Given the description of an element on the screen output the (x, y) to click on. 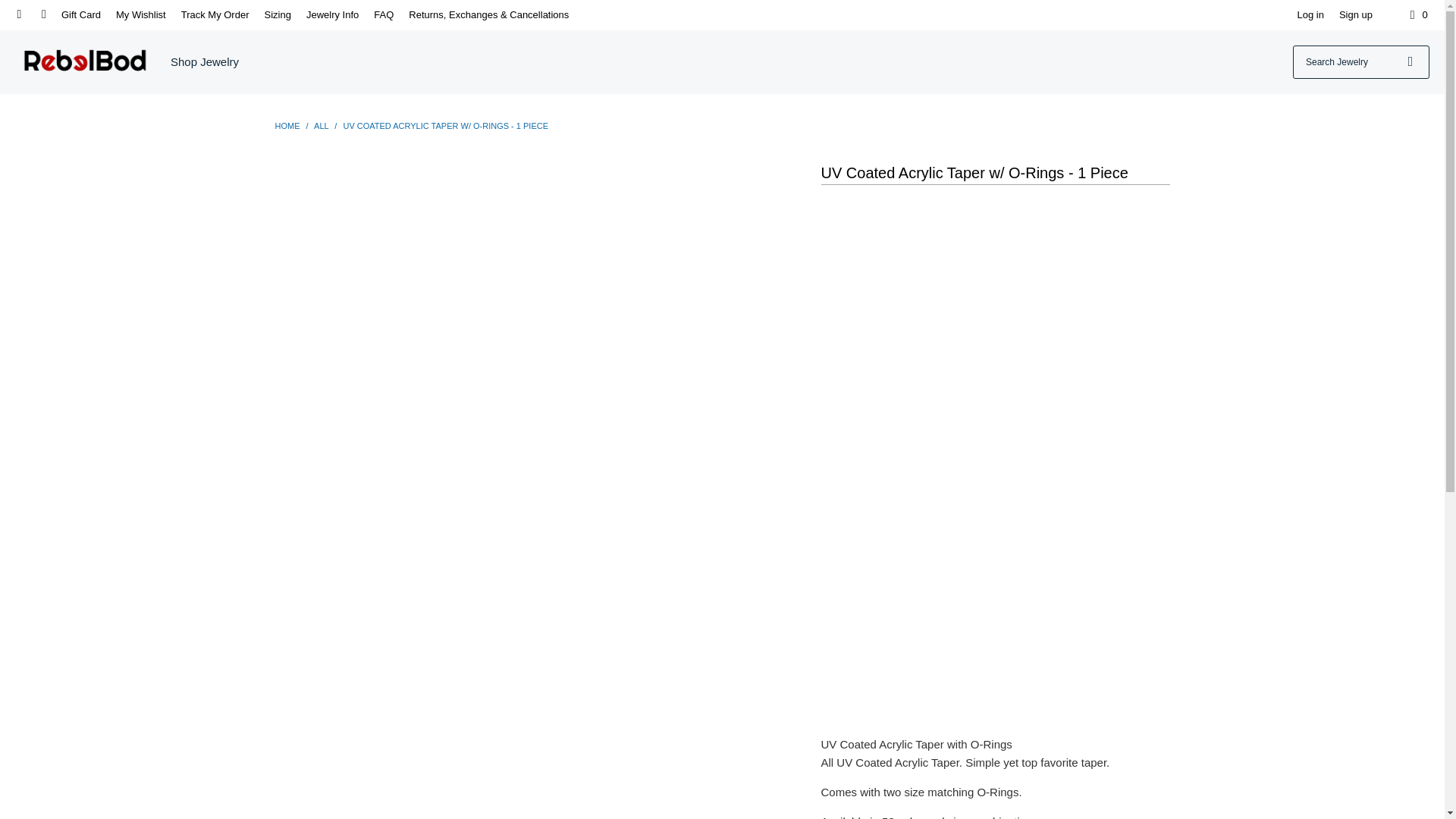
Rebel Bod on Pinterest (42, 14)
Rebel Bod (84, 61)
Rebel Bod (288, 125)
Rebel Bod on Instagram (17, 14)
All (322, 125)
